Given the description of an element on the screen output the (x, y) to click on. 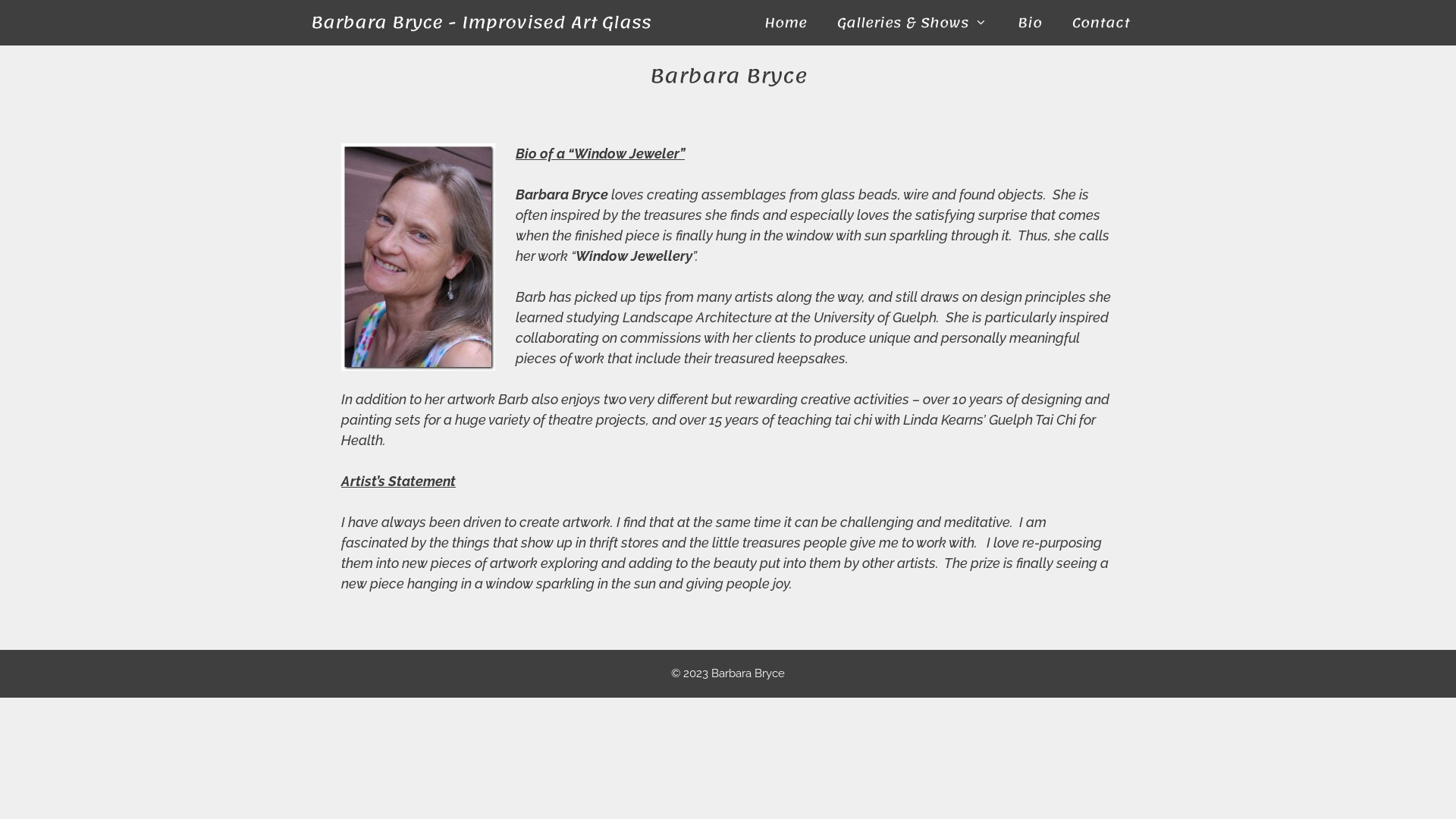
Contact Element type: text (1101, 22)
Galleries & Shows Element type: text (912, 22)
Home Element type: text (785, 22)
Barbara Bryce - Improvised Art Glass Element type: text (480, 22)
Bio Element type: text (1029, 22)
